Given the description of an element on the screen output the (x, y) to click on. 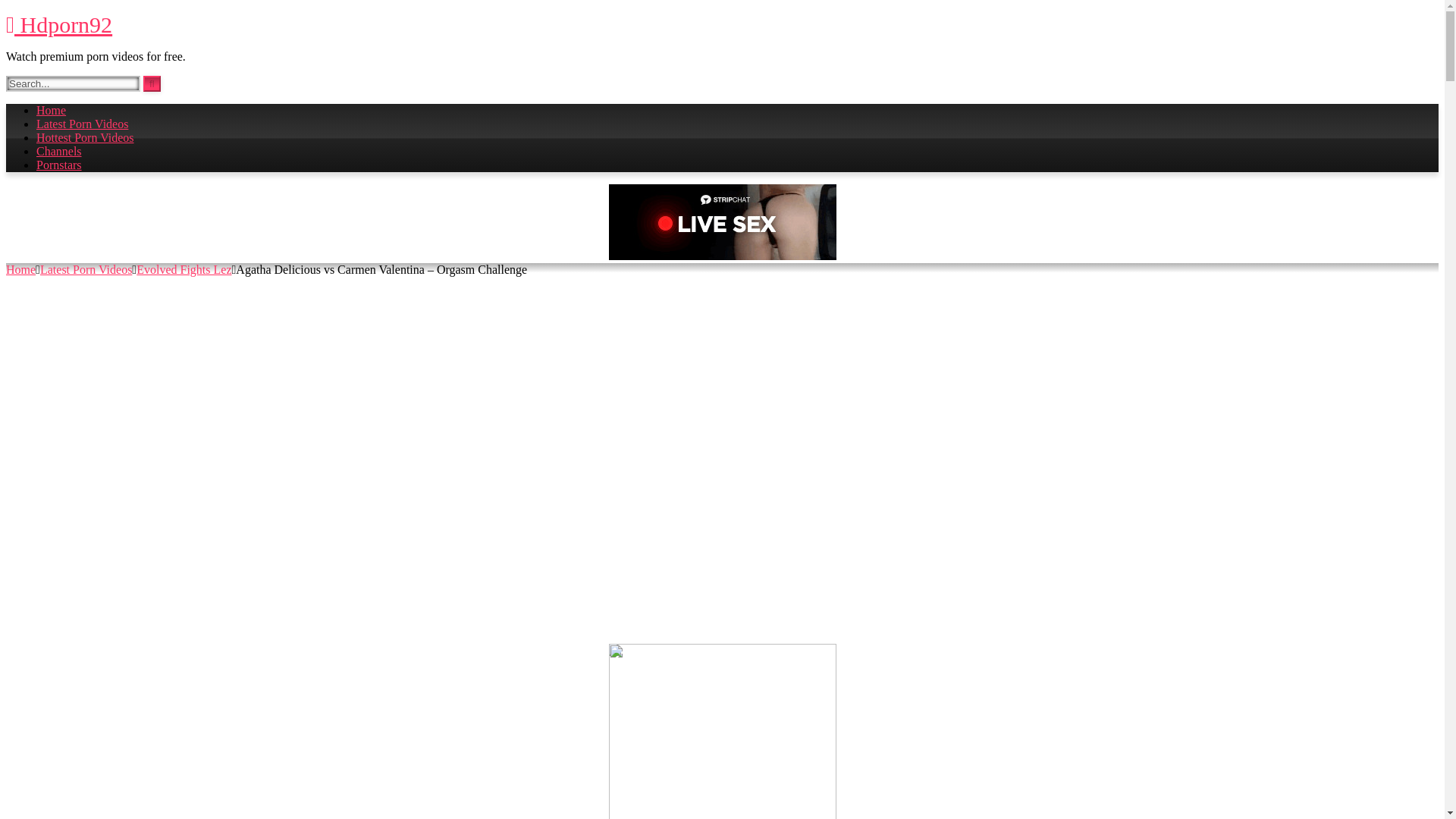
Home (50, 110)
Home (19, 269)
Latest Porn Videos (82, 123)
Pornstars (58, 164)
Latest Porn Videos (86, 269)
Channels (58, 151)
Evolved Fights Lez (183, 269)
Hottest Porn Videos (84, 137)
Hdporn92 (58, 24)
